Given the description of an element on the screen output the (x, y) to click on. 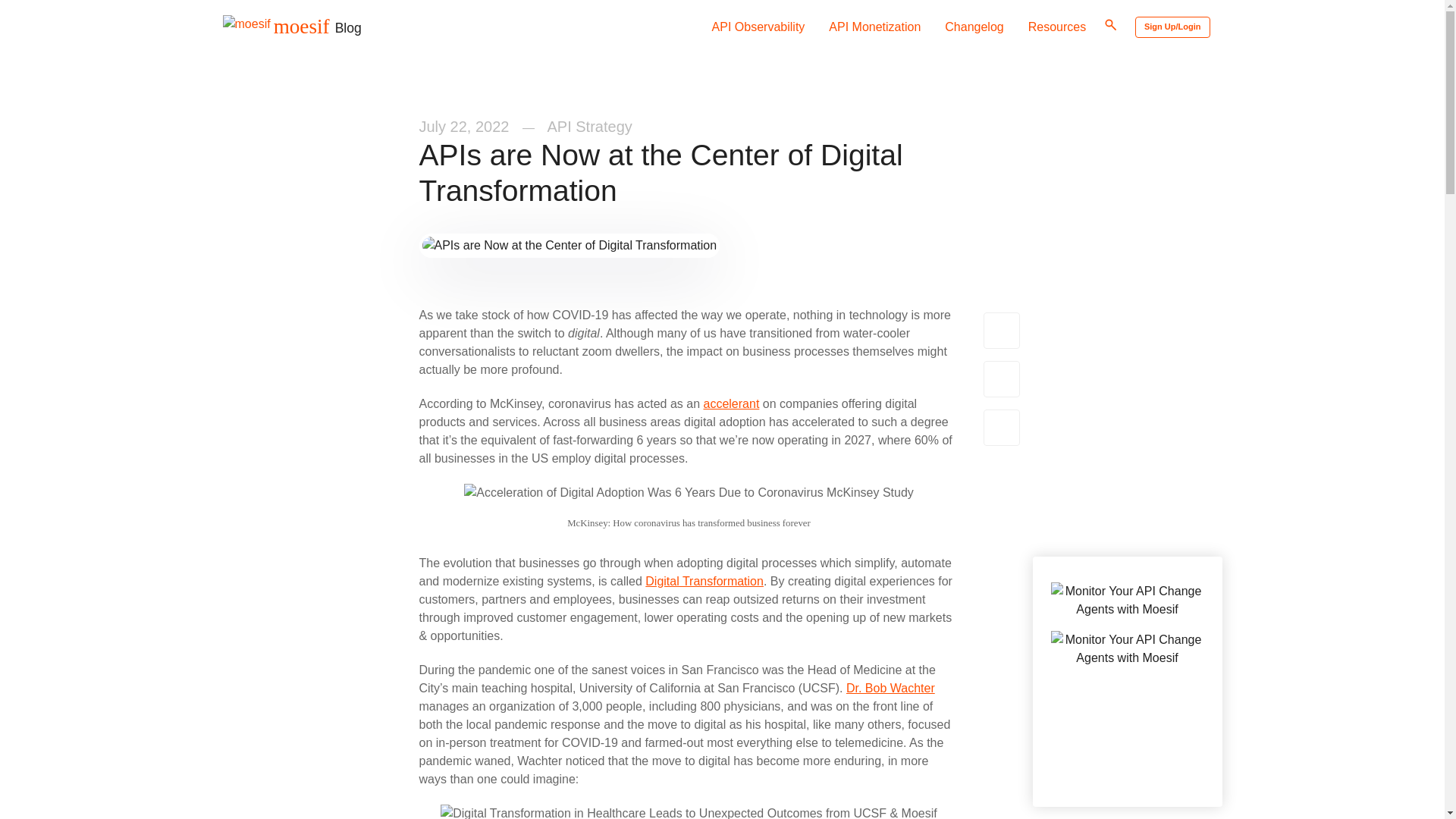
Share on LinkedIn (1000, 427)
Toggle search (1110, 25)
Share on Facebook (1000, 379)
Dr. Bob Wachter (889, 687)
Changelog (973, 26)
Digital Transformation (703, 581)
Share on Twitter (1000, 330)
API Strategy (589, 126)
Blog (347, 27)
